Given the description of an element on the screen output the (x, y) to click on. 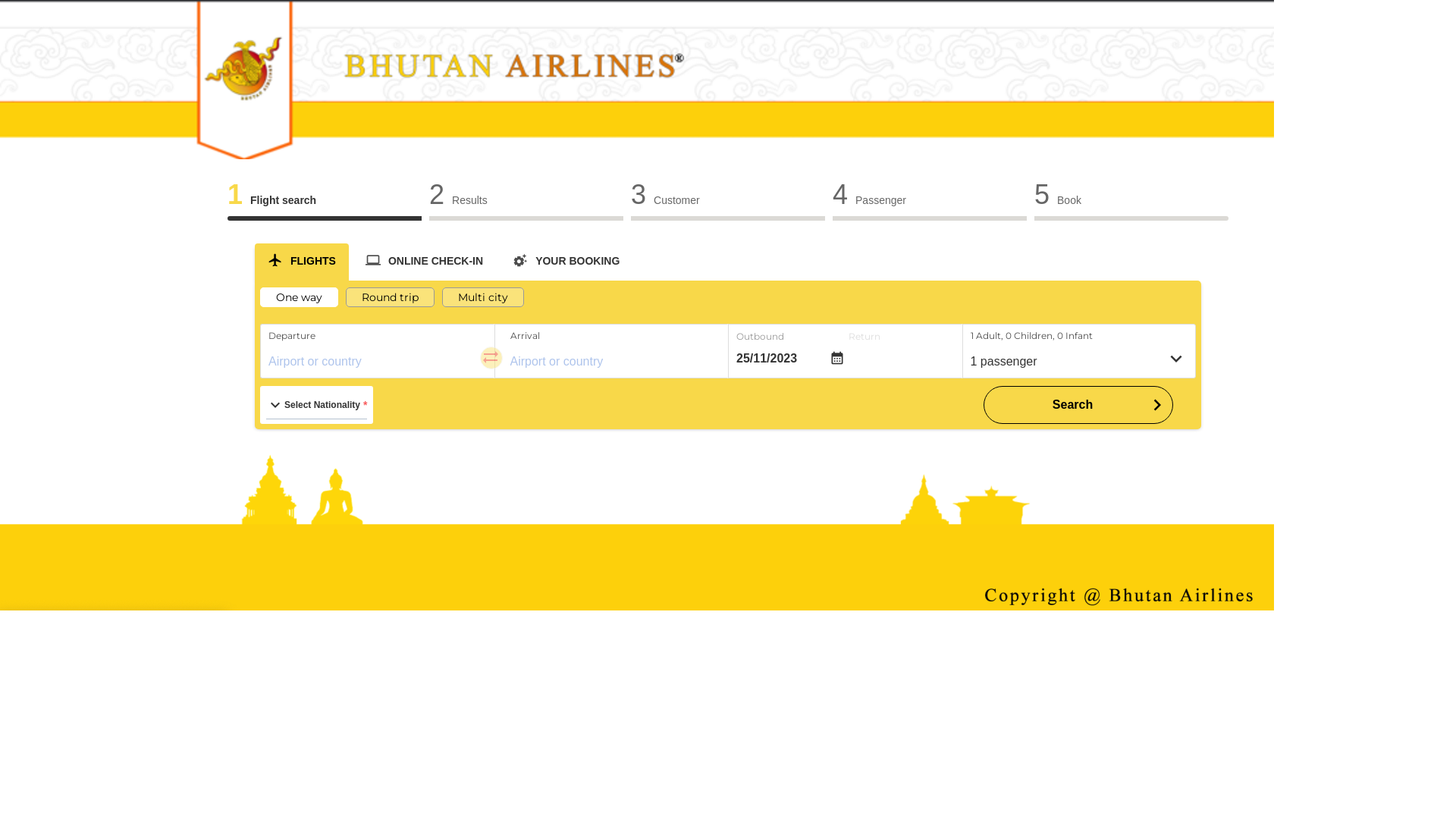
settings_suggestYOUR BOOKING Element type: text (565, 259)
computerONLINE CHECK-IN Element type: text (423, 259)
Search Element type: text (1078, 404)
expand_more
Select Nationality
 * Element type: text (316, 405)
